Given the description of an element on the screen output the (x, y) to click on. 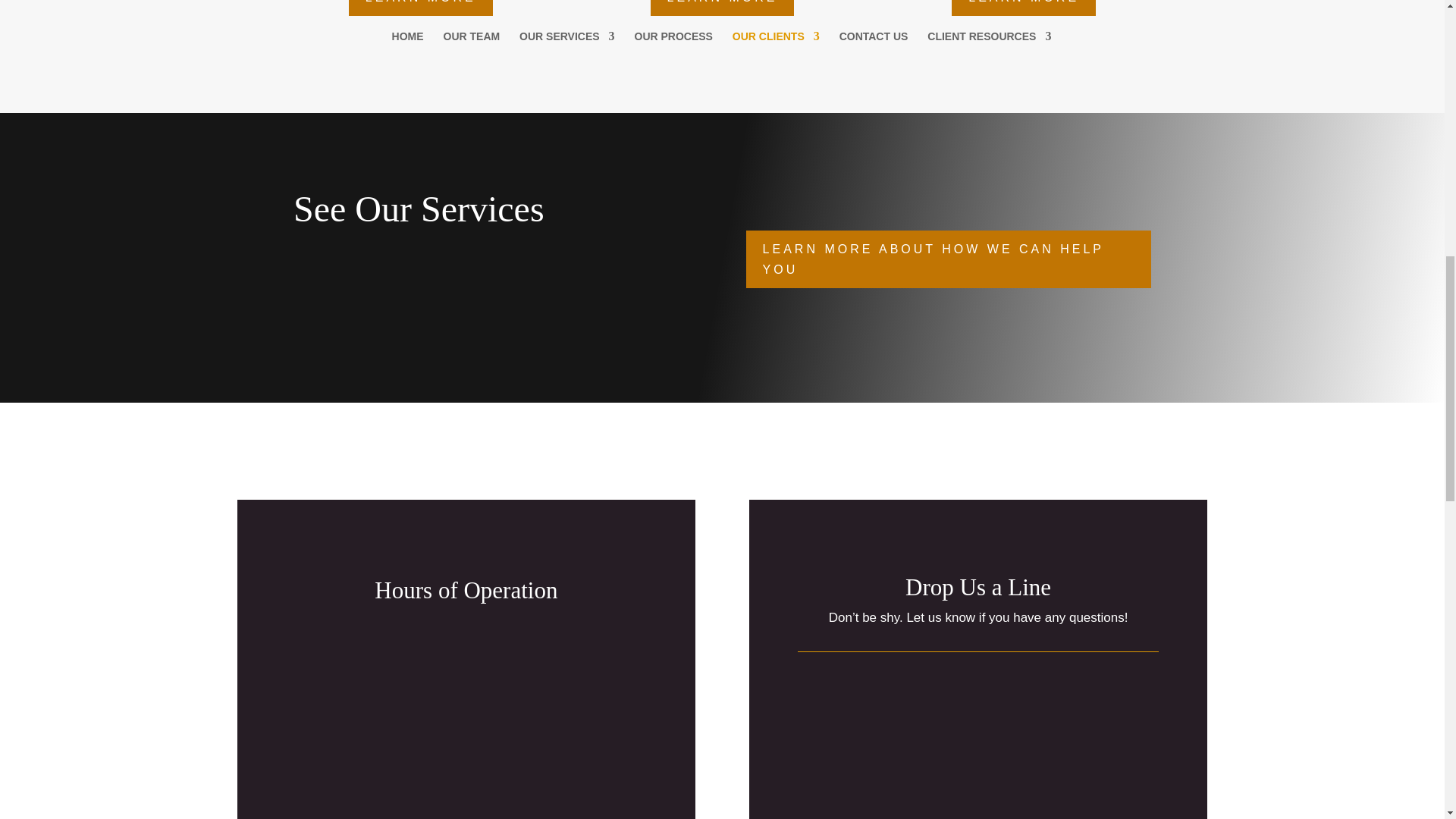
LEARN MORE ABOUT HOW WE CAN HELP YOU (948, 259)
LEARN MORE (1024, 7)
LEARN MORE (421, 7)
LEARN MORE (722, 7)
